Given the description of an element on the screen output the (x, y) to click on. 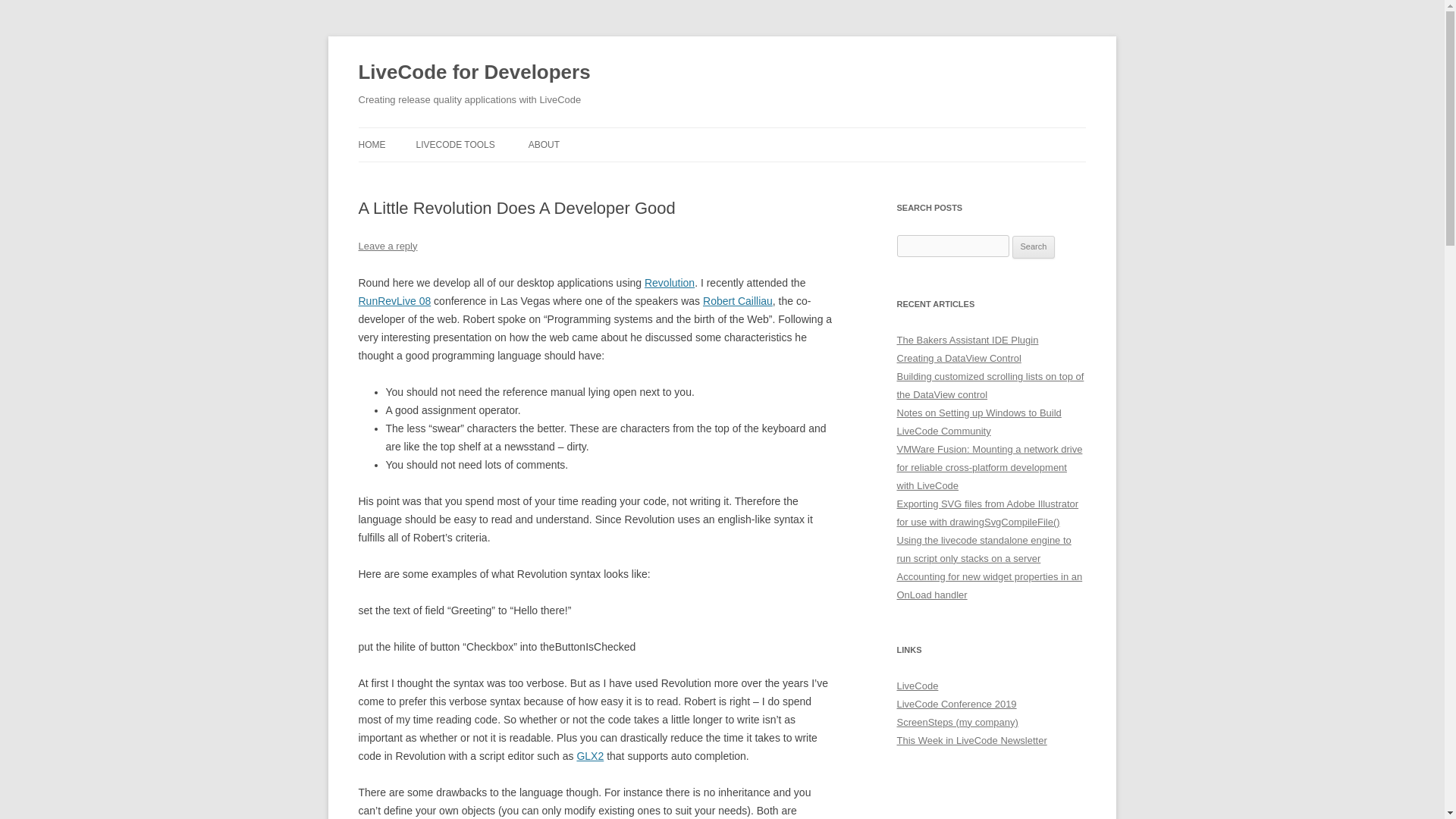
Search (1033, 246)
LIBRARIES (490, 176)
Accounting for new widget properties in an OnLoad handler (988, 585)
Link to my company website (956, 722)
Notes on Setting up Windows to Build LiveCode Community (978, 421)
GLX2 (590, 756)
RunRevLive 08 (394, 300)
LiveCode for Developers (473, 72)
LIVECODE TOOLS (454, 144)
ABOUT (543, 144)
LiveCode for Developers (473, 72)
Creating a DataView Control (958, 357)
